Given the description of an element on the screen output the (x, y) to click on. 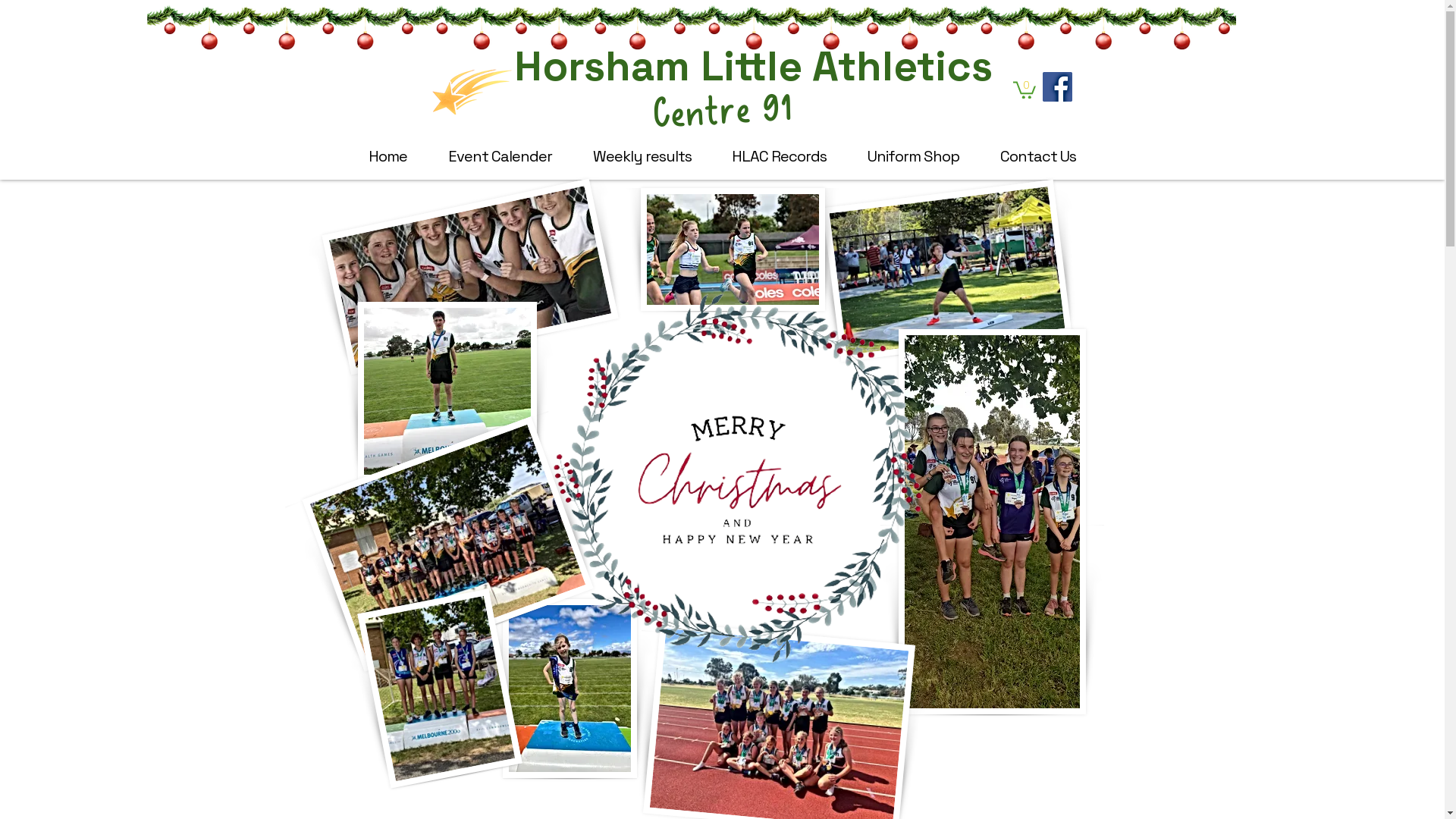
0 Element type: text (1024, 88)
HLAC Records Element type: text (779, 155)
Home Element type: text (387, 155)
Event Calender Element type: text (499, 155)
Weekly results Element type: text (641, 155)
Horsham Little Athletics Element type: text (753, 65)
Contact Us Element type: text (1038, 155)
Centre 91 Element type: text (720, 101)
Uniform Shop Element type: text (913, 155)
